Given the description of an element on the screen output the (x, y) to click on. 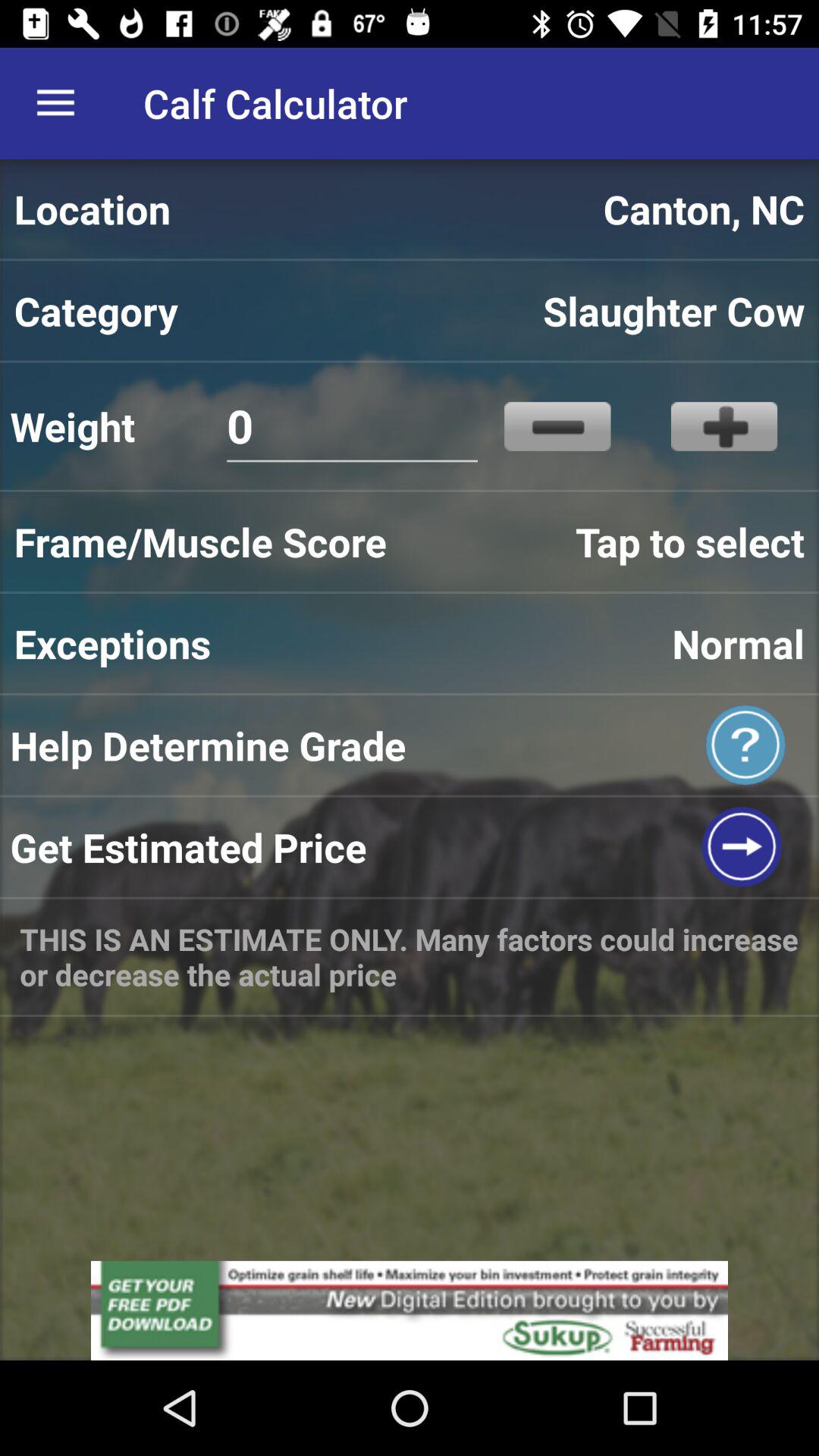
increase (724, 425)
